Given the description of an element on the screen output the (x, y) to click on. 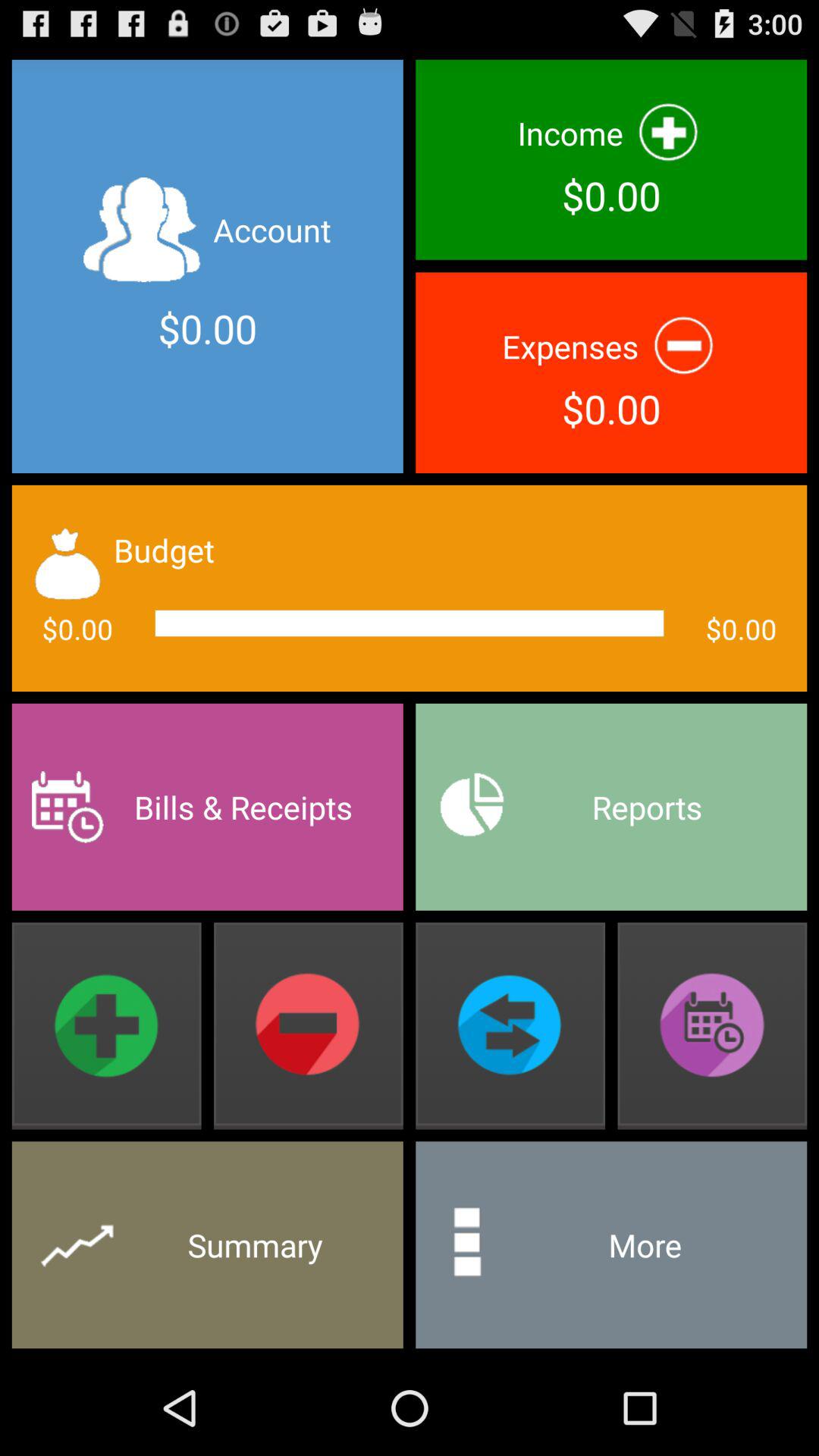
tap icon below $0.00 app (611, 806)
